Given the description of an element on the screen output the (x, y) to click on. 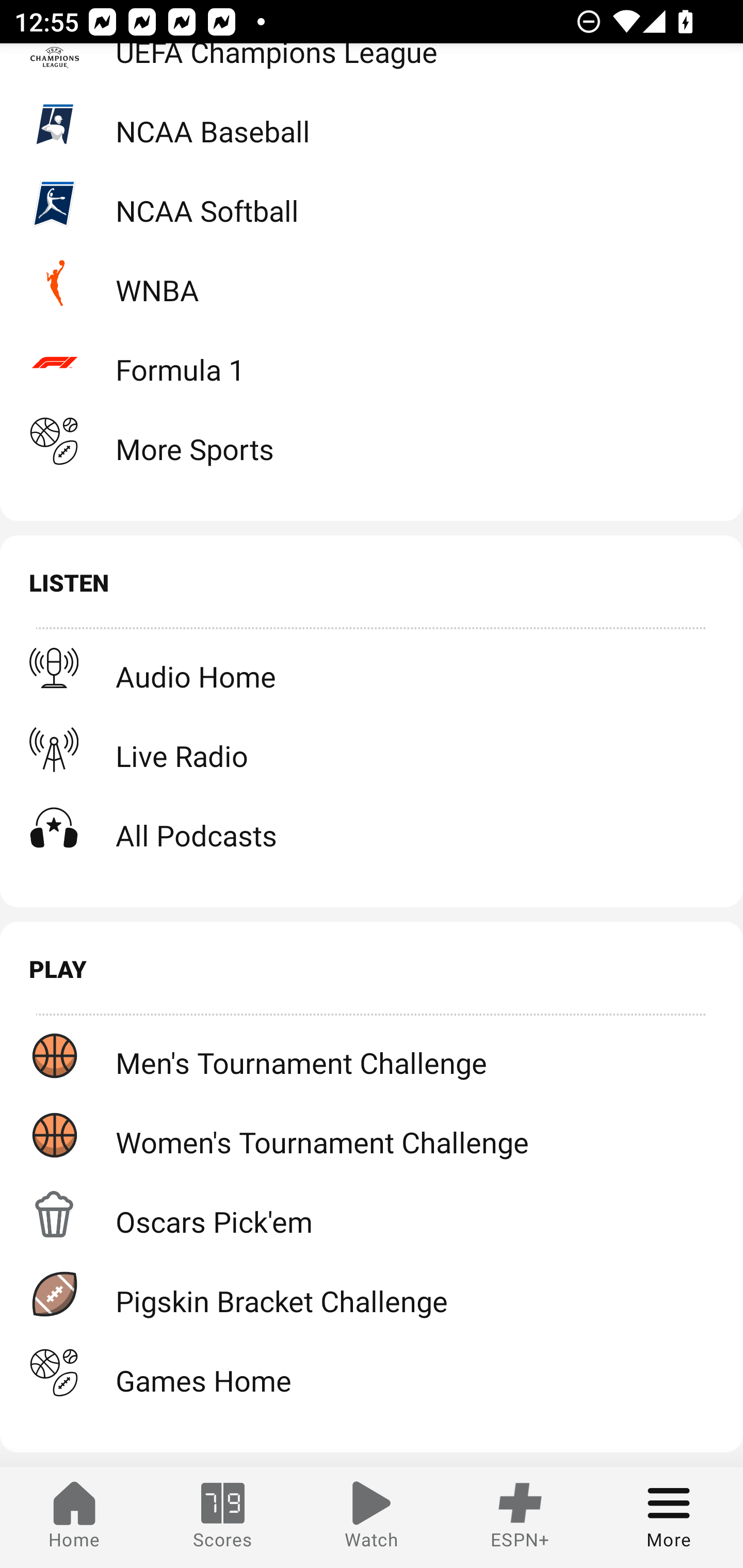
UEFA Champions League (371, 63)
NCAA Baseball (371, 123)
NCAA Softball (371, 203)
WNBA (371, 283)
Formula 1 (371, 362)
More Sports A More Sports (371, 441)
Audio Home + Audio Home (371, 668)
Live Radio ) Live Radio (371, 748)
All Podcasts  All Podcasts (371, 827)
Men's Tournament Challenge (371, 1055)
Women's Tournament Challenge (371, 1134)
Oscars Pick'em (371, 1214)
Pigskin Bracket Challenge (371, 1293)
Games Home A Games Home (371, 1372)
Home (74, 1517)
Scores (222, 1517)
Watch (371, 1517)
ESPN+ (519, 1517)
